Given the description of an element on the screen output the (x, y) to click on. 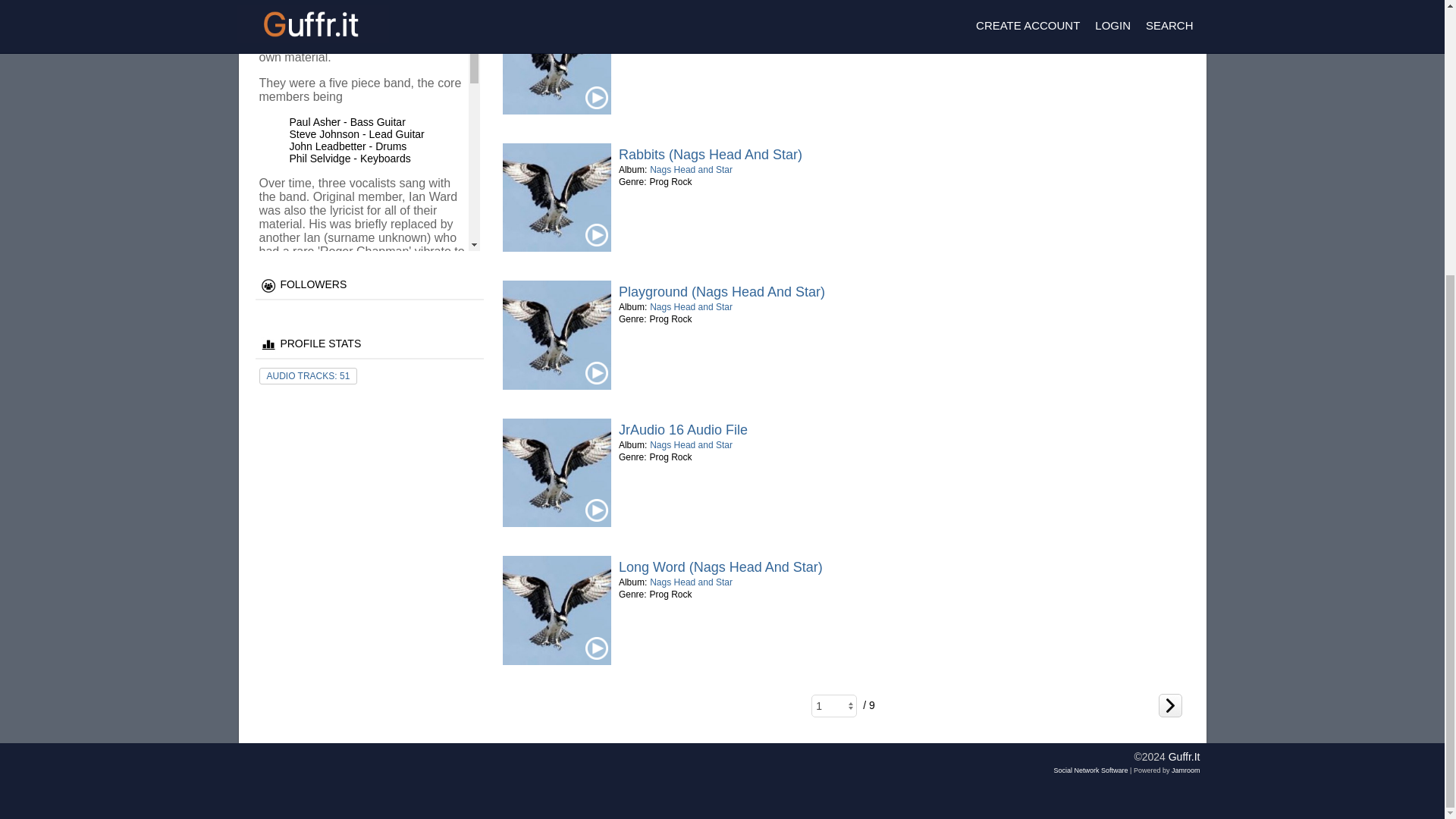
Nags Head and Star (690, 444)
play (596, 648)
JrAudio 16 Audio File (683, 429)
Nags Head and Star (690, 31)
play (596, 234)
play (596, 372)
play (596, 509)
Nags Head and Star (690, 307)
play (596, 97)
AUDIO TRACKS: 51 (308, 376)
